Given the description of an element on the screen output the (x, y) to click on. 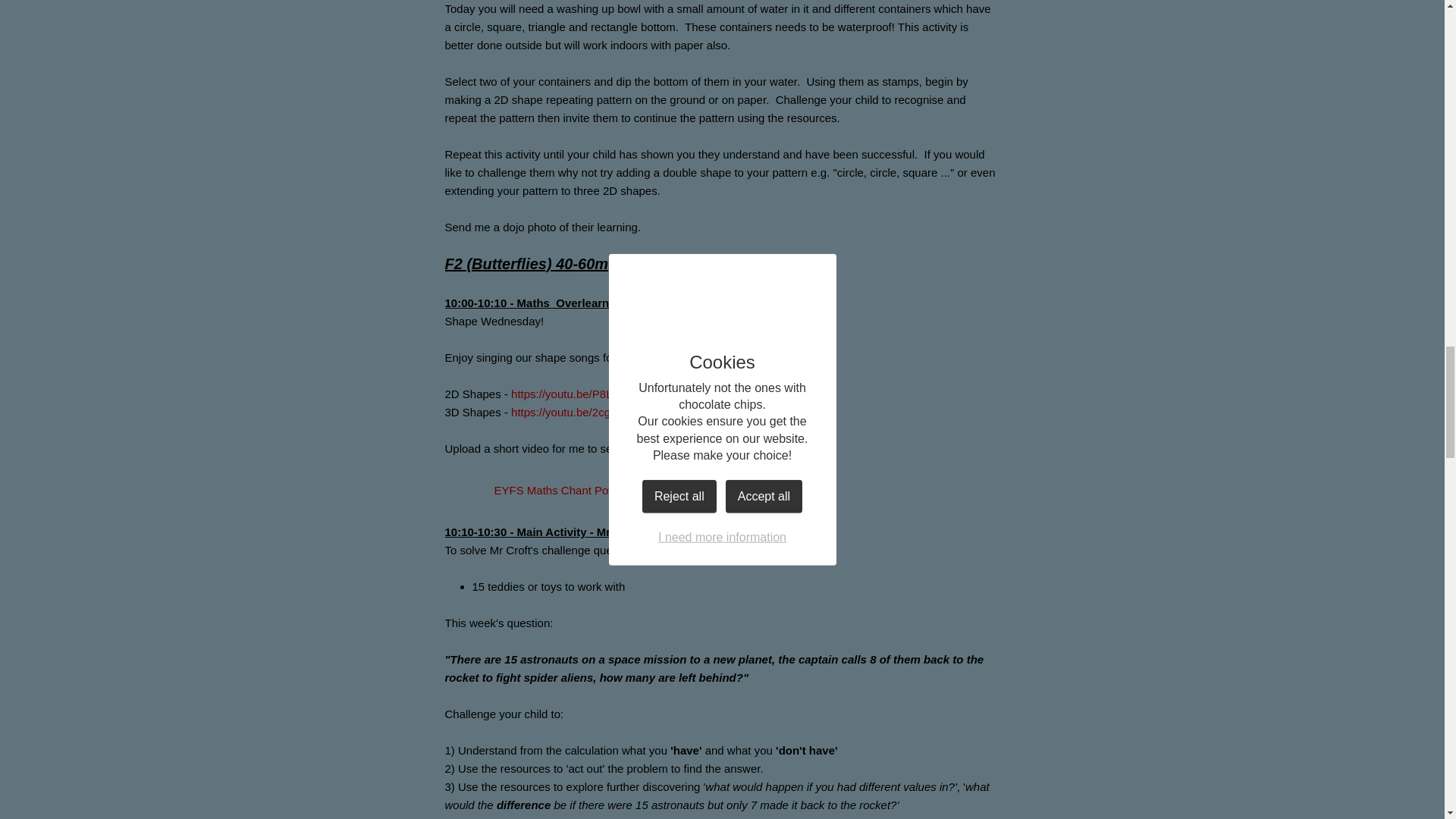
EYFS Maths Chant Powerpoint Jan-April.pptx (583, 490)
